Given the description of an element on the screen output the (x, y) to click on. 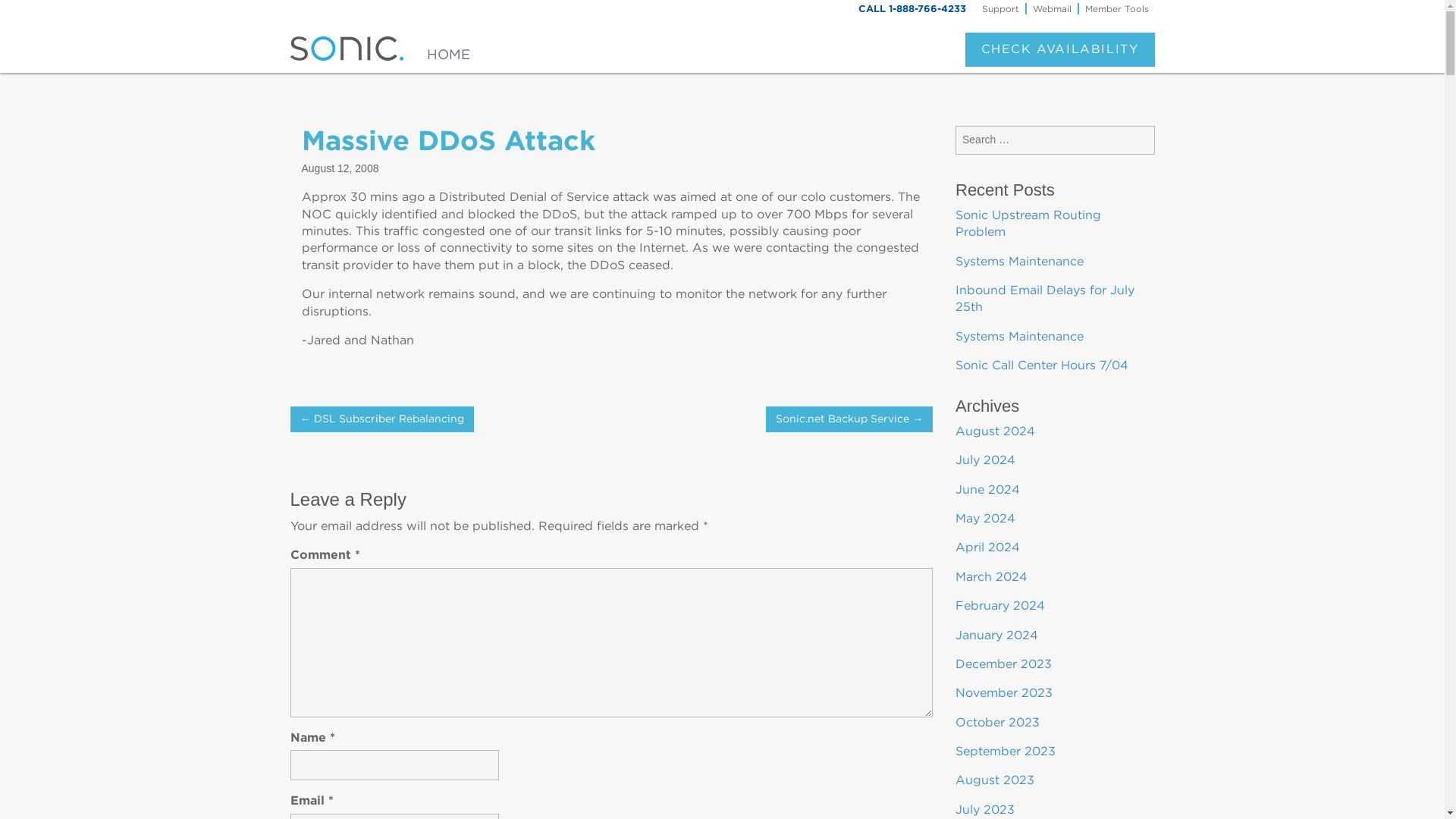
December 2023 (1003, 663)
April 2024 (987, 546)
May 2024 (984, 518)
August 2023 (994, 780)
CHECK AVAILABILITY (1059, 49)
HOME (447, 48)
January 2024 (996, 635)
Member Tools (1116, 8)
Sonic Upstream Routing Problem (1027, 223)
July 2024 (984, 459)
